Given the description of an element on the screen output the (x, y) to click on. 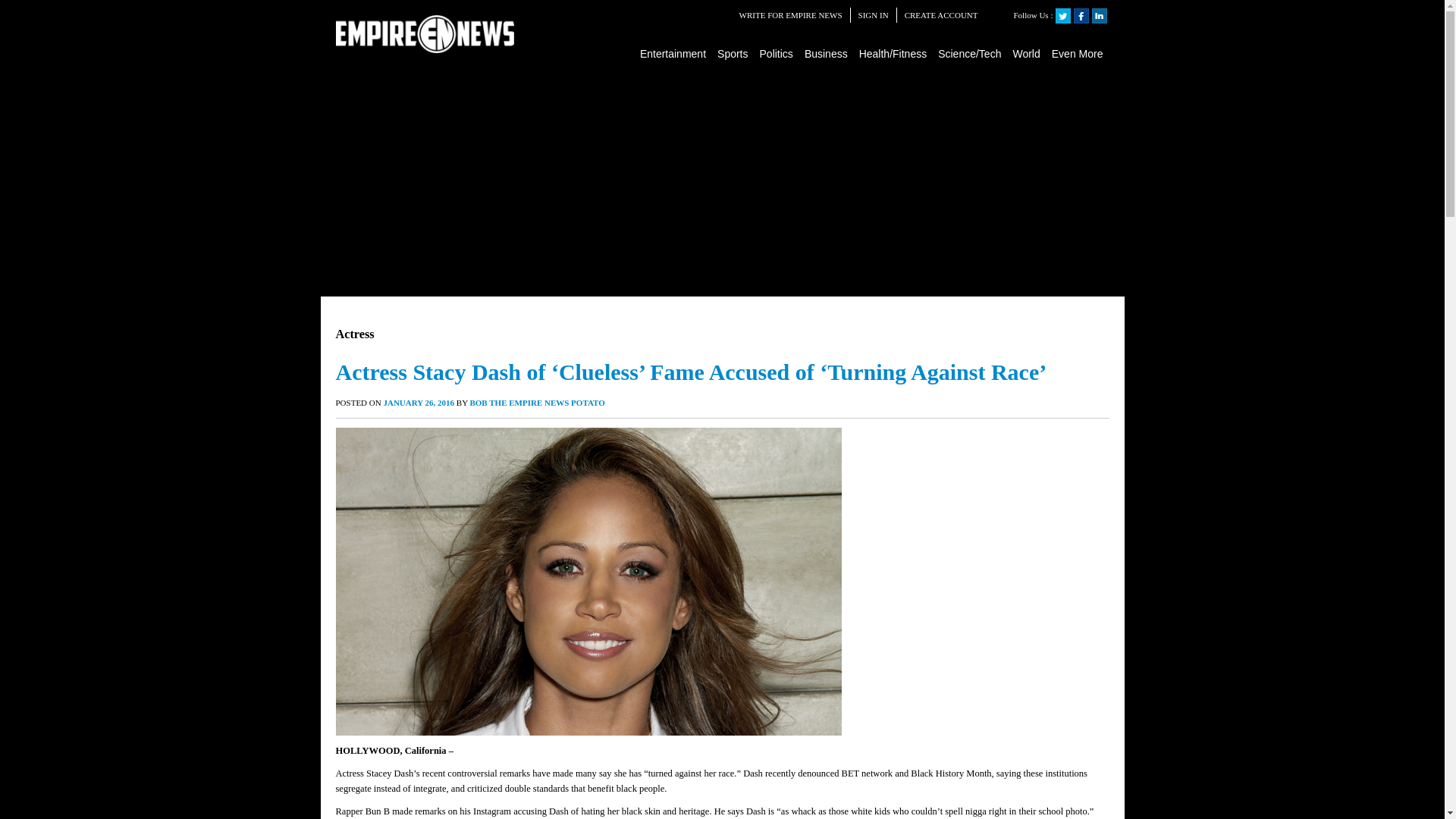
SIGN IN (873, 14)
Business (826, 53)
Entertainment (672, 53)
World (1026, 53)
Sports (732, 53)
CREATE ACCOUNT (941, 14)
Politics (776, 53)
WRITE FOR EMPIRE NEWS (791, 14)
